Given the description of an element on the screen output the (x, y) to click on. 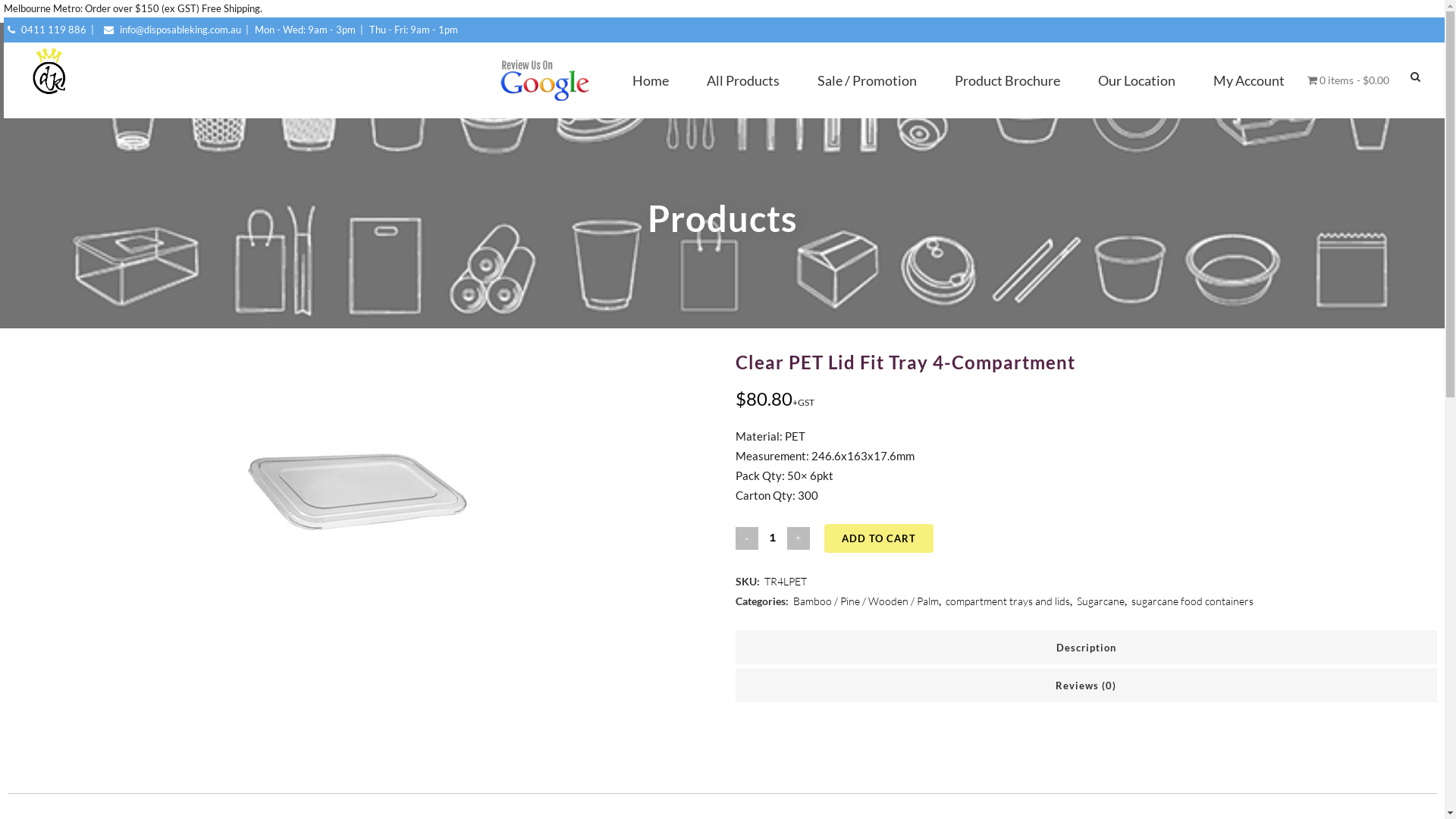
0 items$0.00 Element type: text (1348, 80)
Sugarcane Element type: text (1100, 600)
Qty Element type: hover (772, 536)
ADD TO CART Element type: text (878, 538)
Product Brochure Element type: text (1006, 80)
0411 119 886 Element type: text (45, 29)
Our Location Element type: text (1136, 80)
Home Element type: text (650, 80)
Bamboo / Pine / Wooden / Palm Element type: text (865, 600)
My Account Element type: text (1248, 80)
Google Review Element type: text (543, 79)
All Products Element type: text (742, 80)
Sale / Promotion Element type: text (866, 80)
tr4lpet Element type: hover (358, 486)
compartment trays and lids Element type: text (1007, 600)
info@disposableking.com.au Element type: text (170, 29)
sugarcane food containers Element type: text (1192, 600)
